Given the description of an element on the screen output the (x, y) to click on. 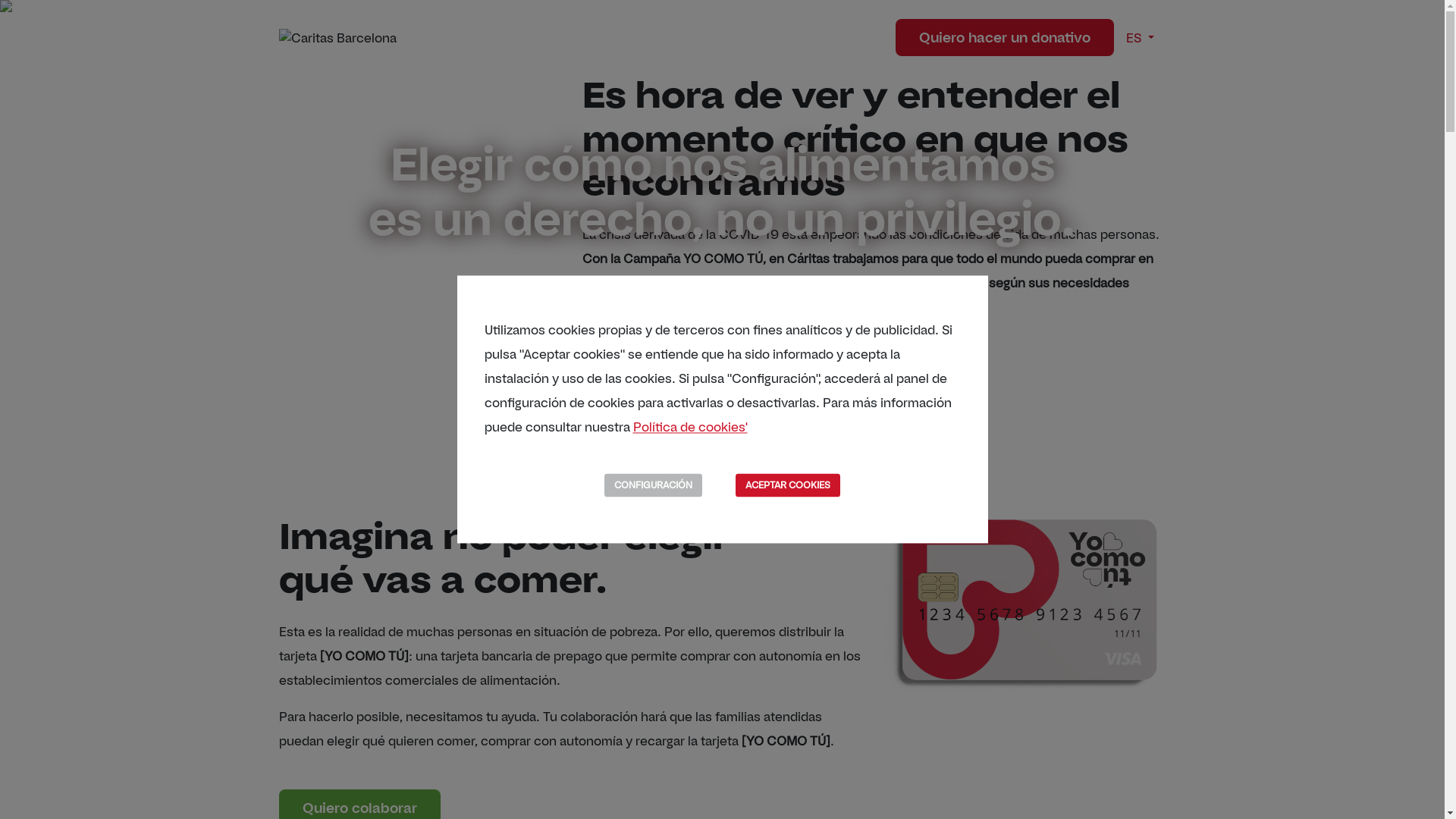
Quiero hacer un donativo Element type: text (1004, 37)
ES Element type: text (1139, 37)
ACEPTAR COOKIES Element type: text (787, 484)
Quiero ayudar Element type: text (653, 373)
